Given the description of an element on the screen output the (x, y) to click on. 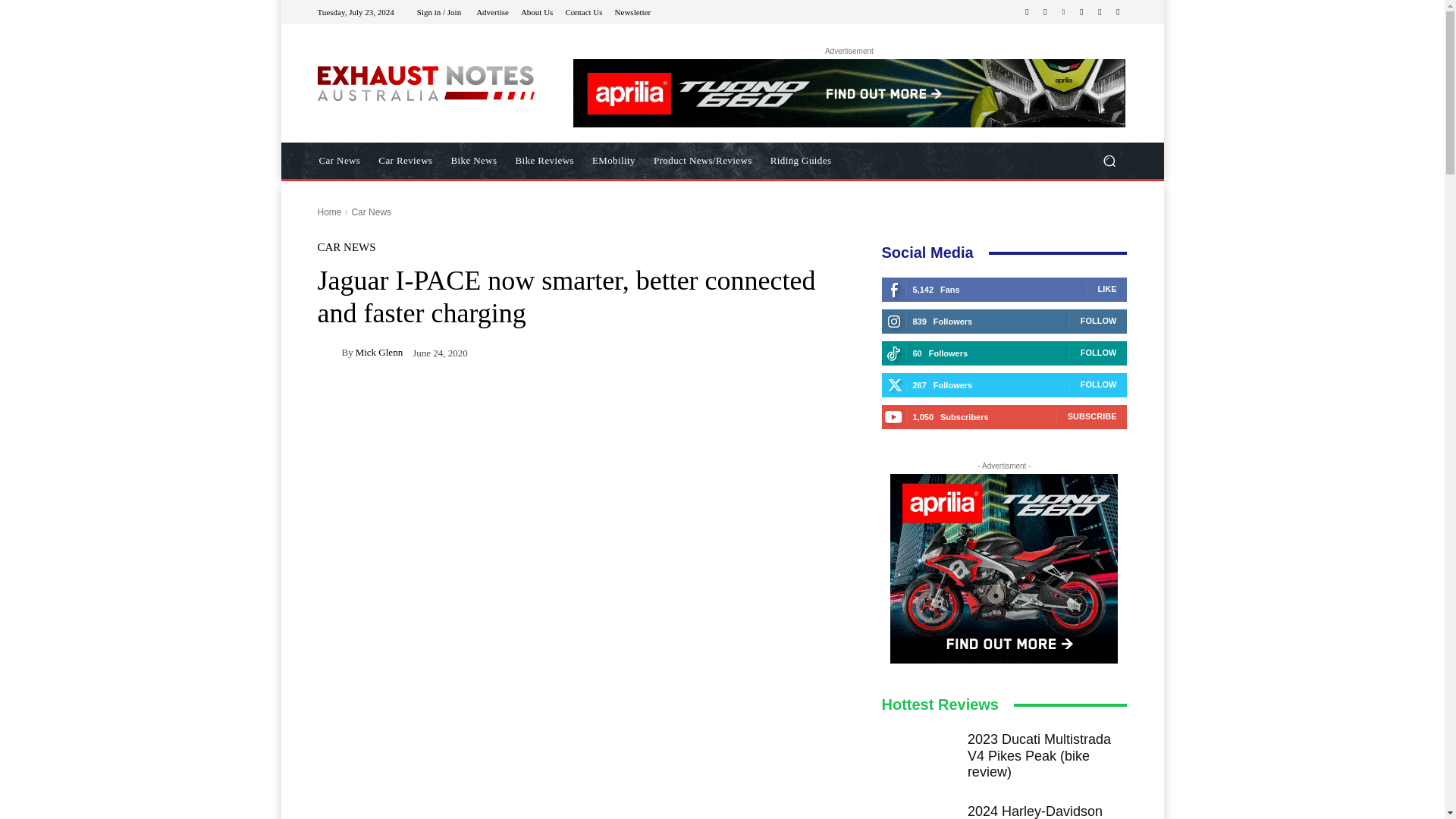
EMobility (614, 160)
Car News (338, 160)
Bike News (474, 160)
Home (328, 212)
Car Reviews (405, 160)
Newsletter (632, 11)
Advertise (492, 11)
Facebook (1026, 12)
Linkedin (1062, 12)
Instagram (1044, 12)
Riding Guides (801, 160)
About Us (537, 11)
Contact Us (583, 11)
Twitter (1099, 12)
Youtube (1117, 12)
